Given the description of an element on the screen output the (x, y) to click on. 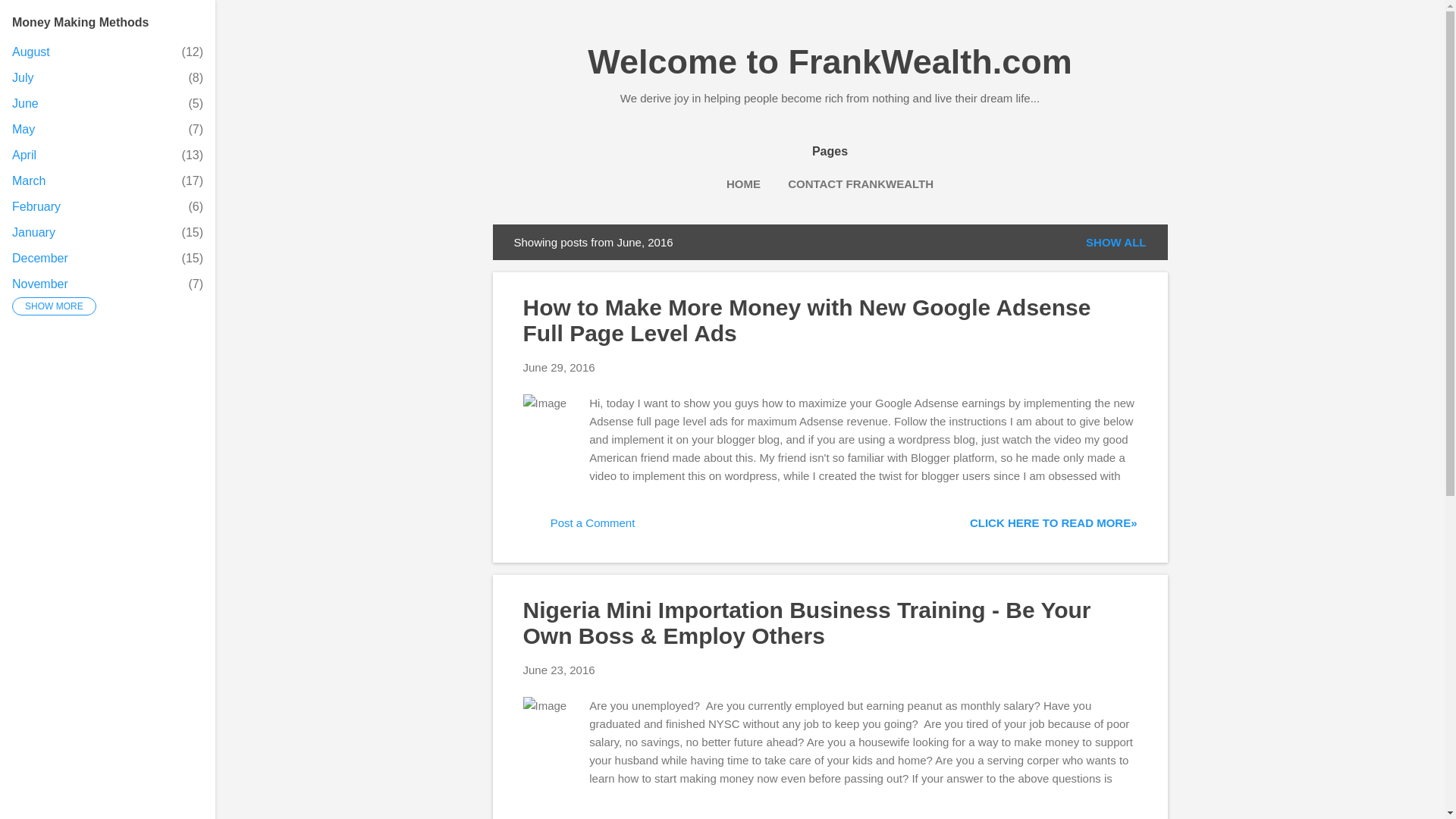
June 29, 2016 (36, 205)
SHOW ALL (25, 103)
HOME (558, 367)
Post a Comment (1115, 242)
permanent link (743, 183)
CONTACT FRANKWEALTH (578, 527)
Welcome to FrankWealth.com (22, 77)
